Given the description of an element on the screen output the (x, y) to click on. 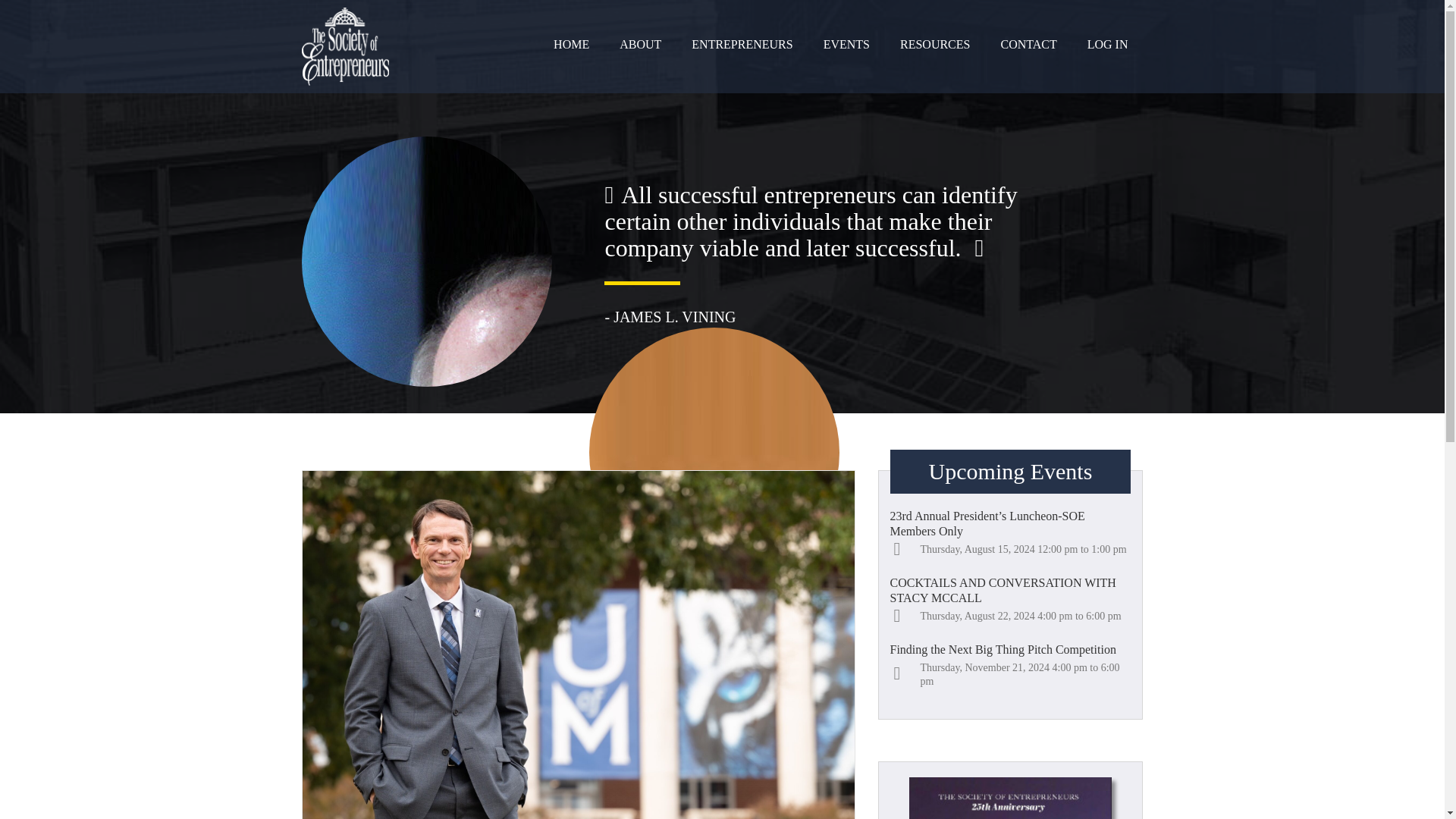
Finding the Next Big Thing Pitch Competition (1010, 649)
HOME (571, 44)
ABOUT (640, 44)
RESOURCES (935, 44)
ENTREPRENEURS (742, 44)
EVENTS (846, 44)
COCKTAILS AND CONVERSATION WITH STACY MCCALL (1010, 590)
LOG IN (1106, 44)
CONTACT (1028, 44)
